Given the description of an element on the screen output the (x, y) to click on. 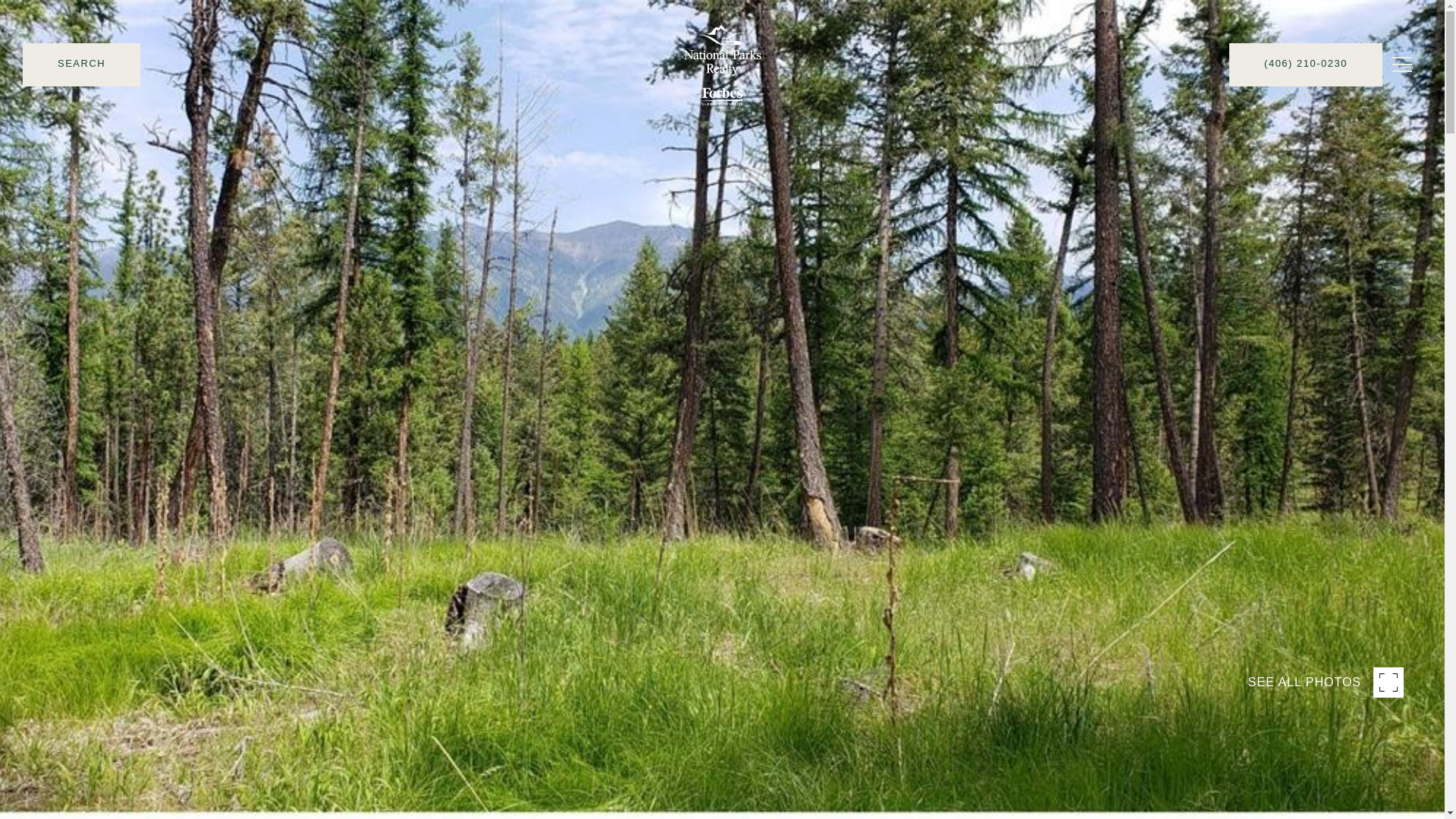
SEARCH (81, 106)
